Given the description of an element on the screen output the (x, y) to click on. 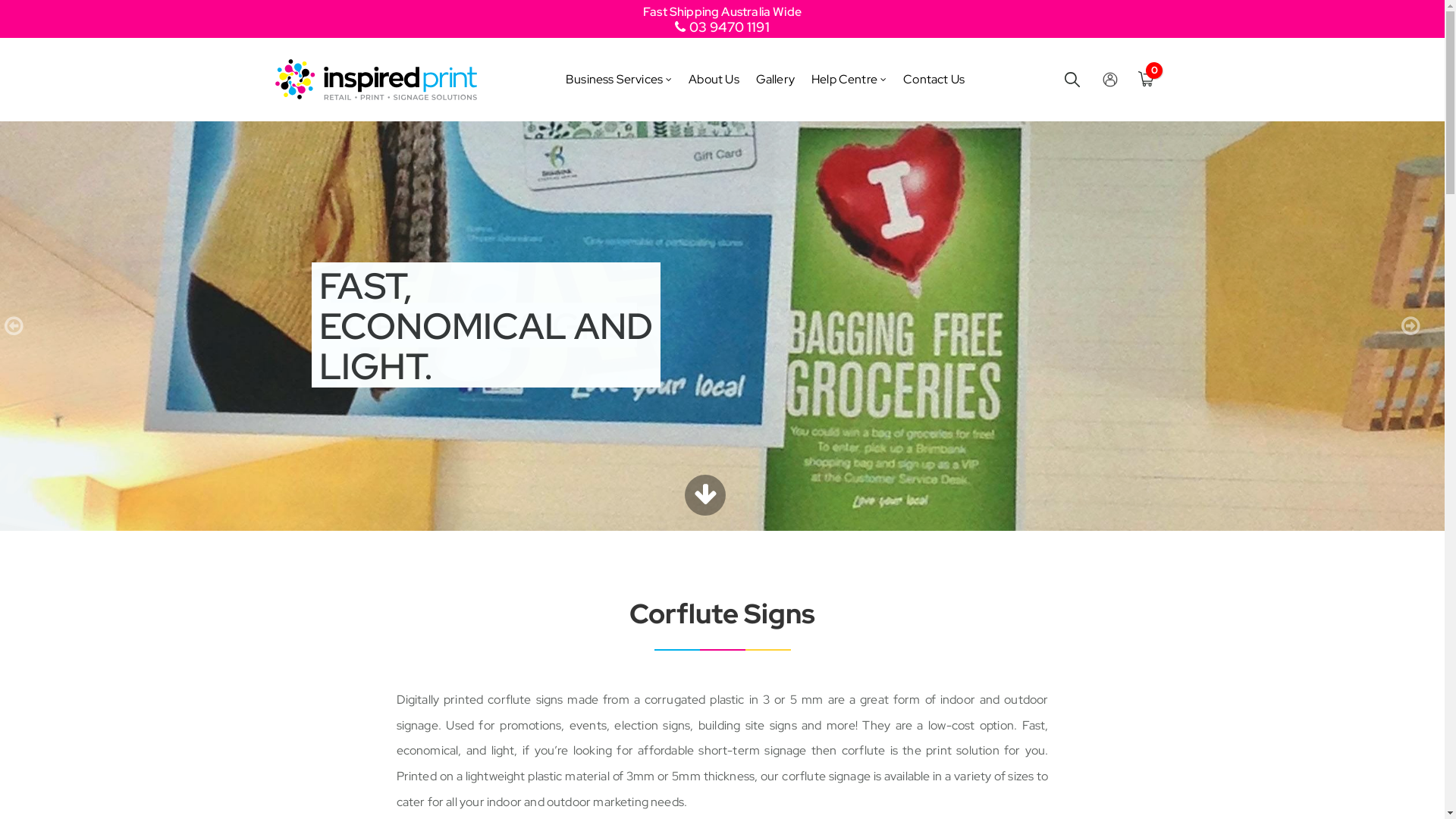
Help Centre Element type: text (844, 79)
Gallery Element type: text (775, 79)
https://www.inspiredprinting.com.au Element type: hover (375, 78)
Contact Us Element type: text (933, 79)
Inspired PrintNet Account Element type: hover (1109, 79)
03 9470 1191 Element type: text (721, 26)
Business Services Element type: text (613, 79)
About Us Element type: text (713, 79)
